Given the description of an element on the screen output the (x, y) to click on. 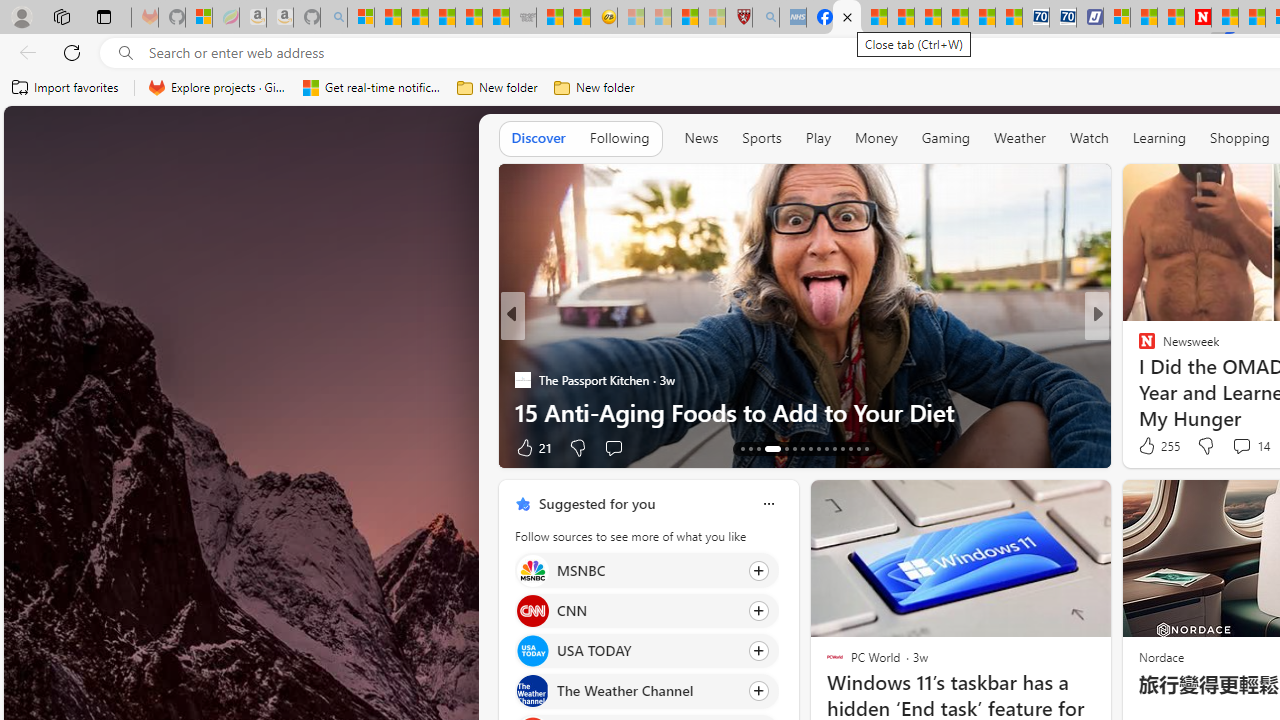
save70.com (545, 380)
New folder (594, 88)
AutomationID: tab-71 (793, 448)
Gaming (945, 138)
14 Like (1149, 447)
AutomationID: tab-70 (780, 448)
Newsweek - News, Analysis, Politics, Business, Technology (1197, 17)
14 Common Myths Debunked By Scientific Facts (1251, 17)
Learning (1159, 137)
